Given the description of an element on the screen output the (x, y) to click on. 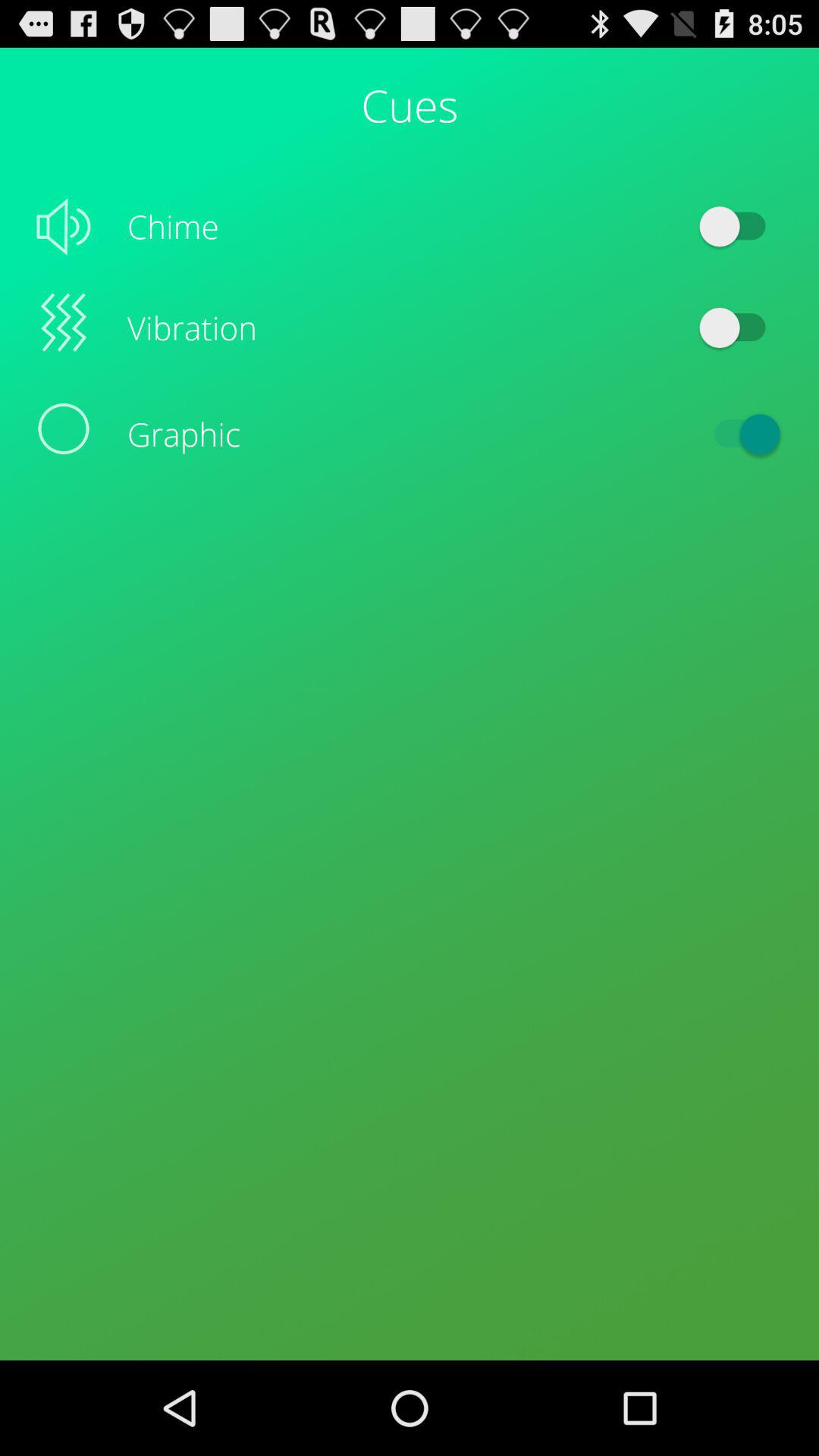
open the item next to graphic icon (739, 434)
